Given the description of an element on the screen output the (x, y) to click on. 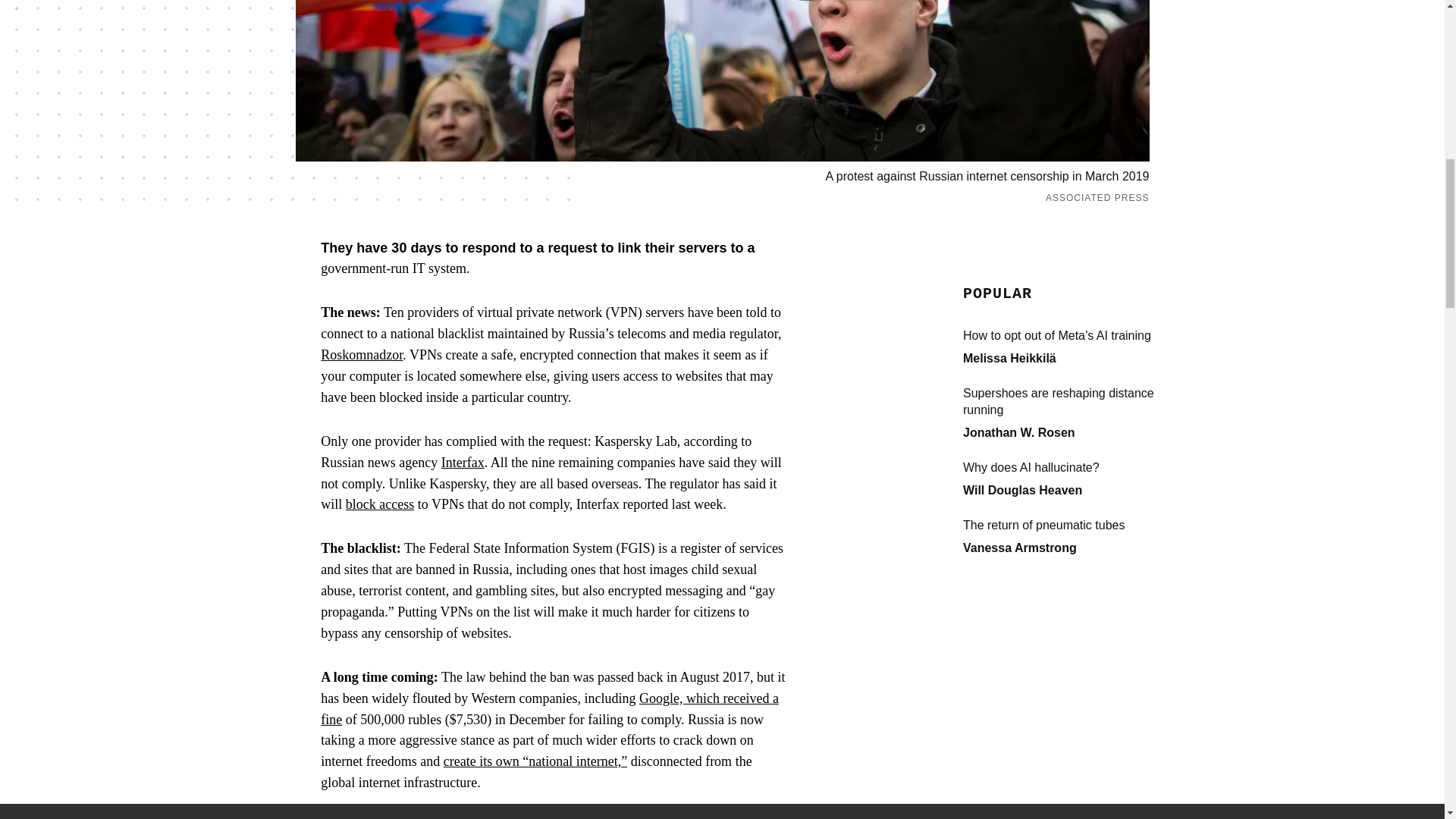
Roskomnadzor (361, 354)
Will Douglas Heaven (1021, 490)
block access (379, 503)
Why does AI hallucinate? (1075, 467)
Jonathan W. Rosen (1018, 431)
The return of pneumatic tubes (1075, 524)
Interfax (462, 462)
Google, which received a fine (549, 709)
Supershoes are reshaping distance running (1075, 401)
